Given the description of an element on the screen output the (x, y) to click on. 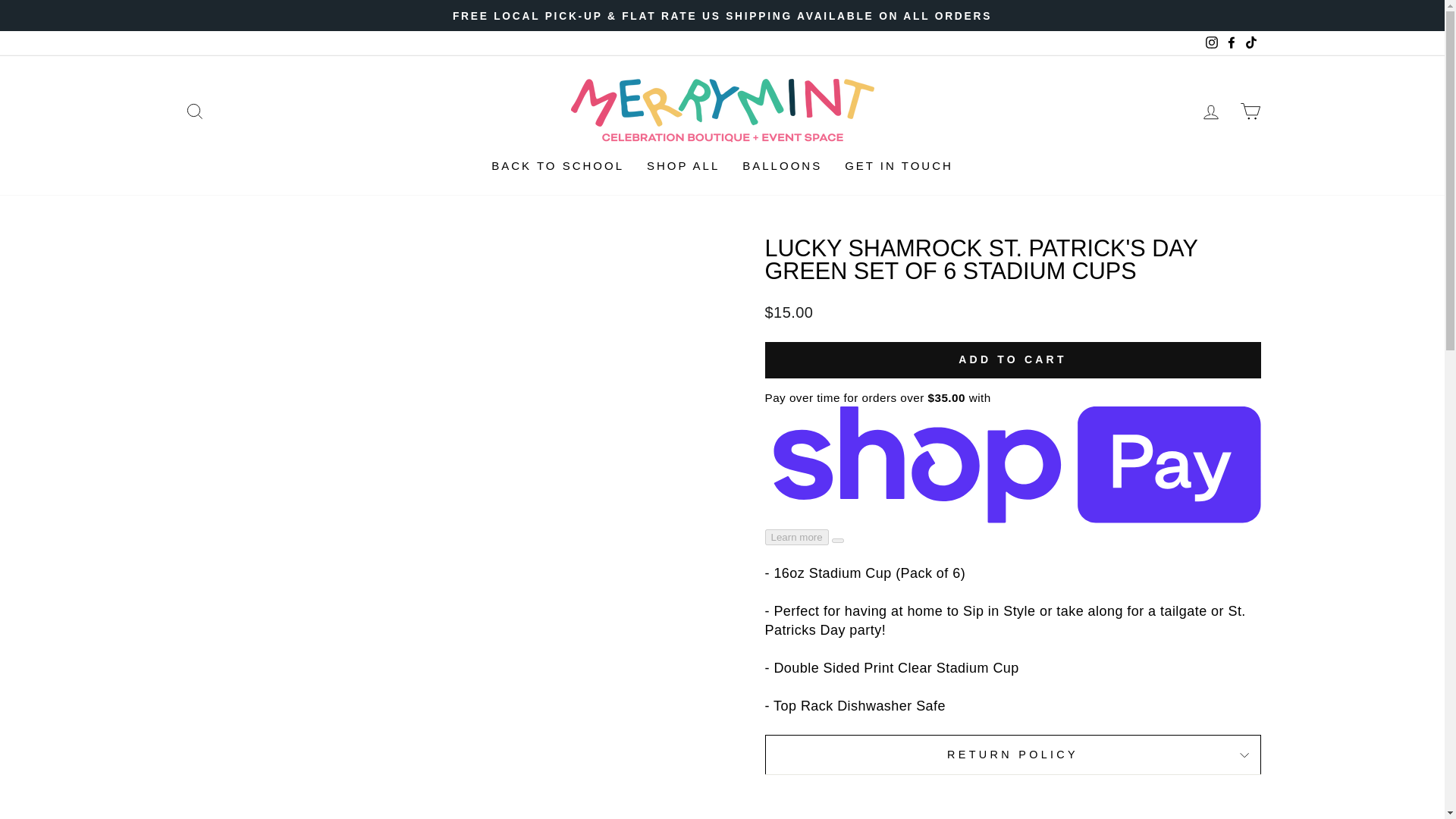
Merrymint Celebration Boutique on TikTok (1250, 42)
Merrymint Celebration Boutique on Instagram (1211, 42)
Merrymint Celebration Boutique on Facebook (1230, 42)
